Given the description of an element on the screen output the (x, y) to click on. 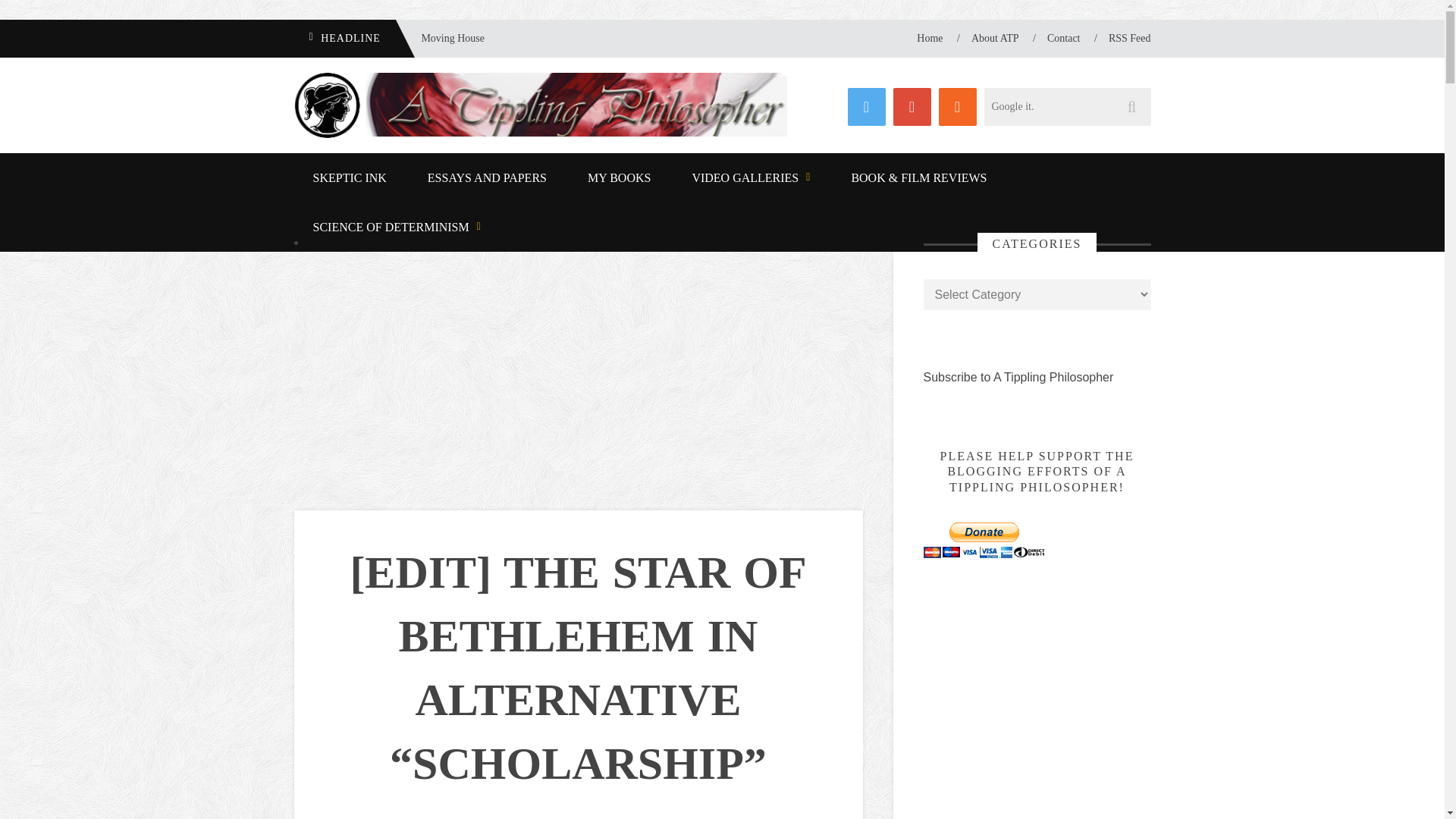
Contact (1063, 38)
Moving House (440, 38)
About ATP (995, 38)
Home (929, 38)
Advertisement (1037, 714)
ESSAYS AND PAPERS (487, 177)
SCIENCE OF DETERMINISM (396, 226)
Advertisement (578, 358)
SKEPTIC INK (350, 177)
MY BOOKS (619, 177)
VIDEO GALLERIES (750, 177)
RSS Feed (1129, 38)
